Given the description of an element on the screen output the (x, y) to click on. 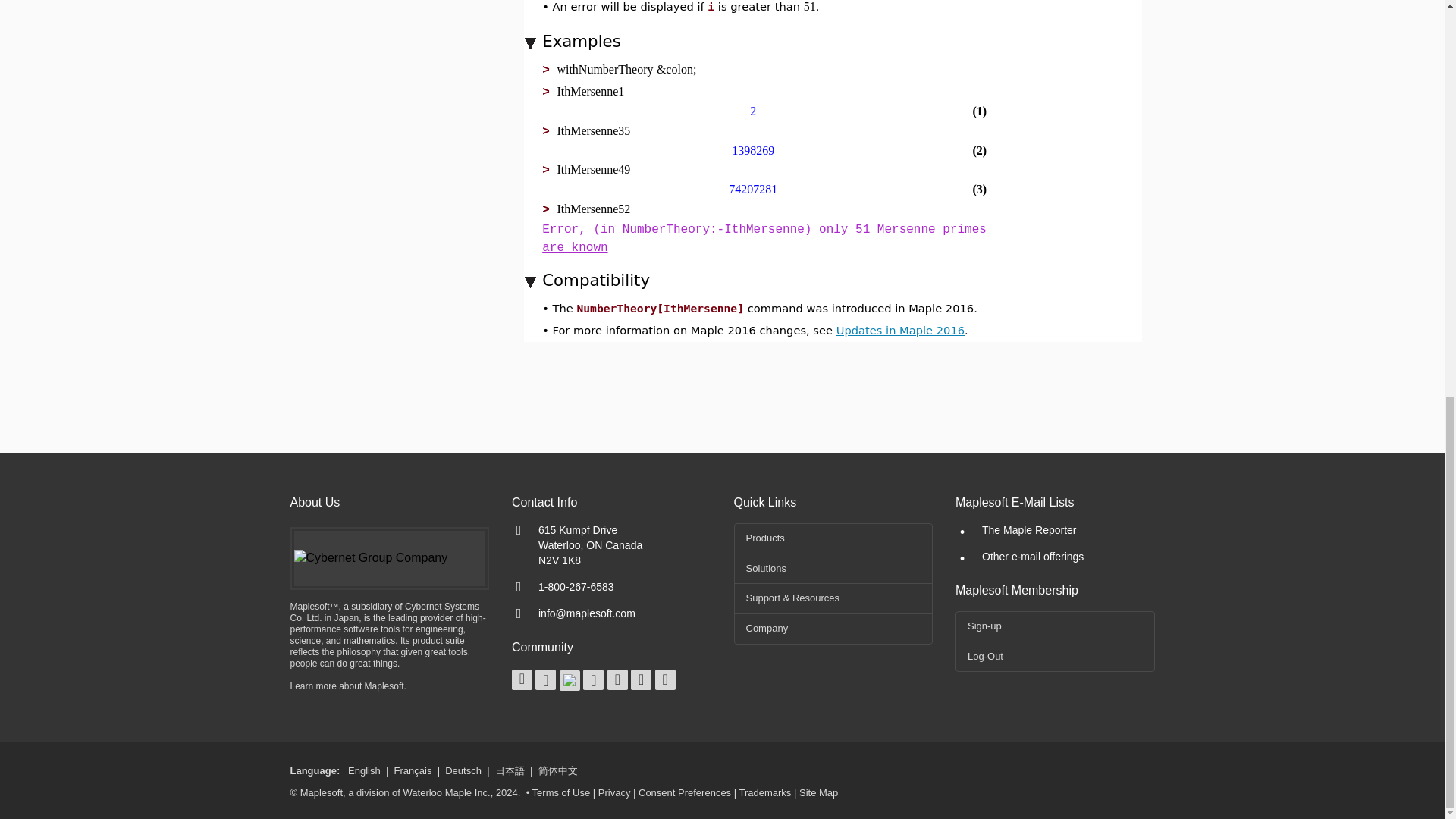
Linkedin (617, 679)
Facebook (545, 679)
Youtube (593, 679)
WeChat (665, 679)
Instagram (640, 679)
MaplePrimes (522, 679)
